Given the description of an element on the screen output the (x, y) to click on. 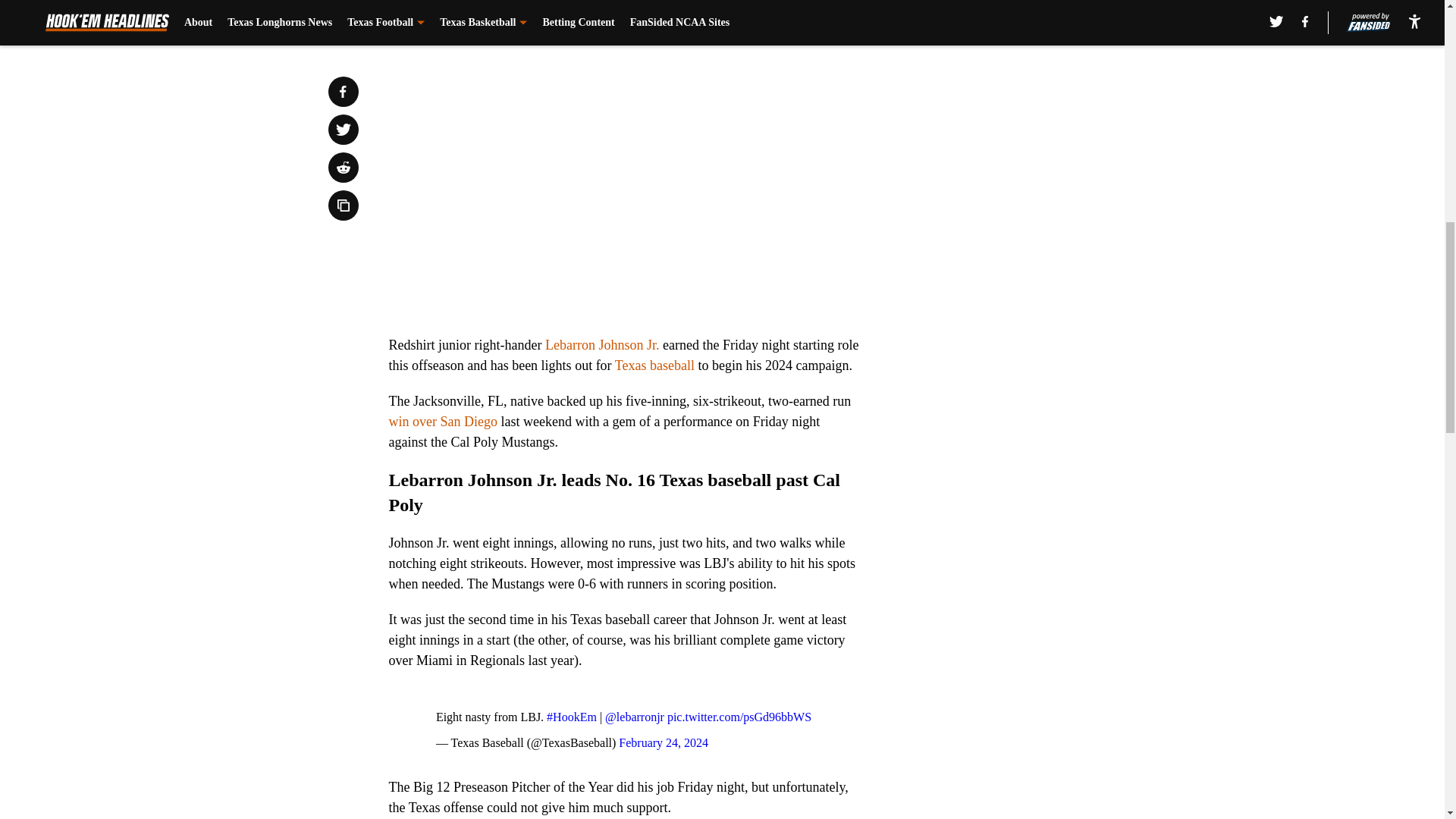
Lebarron Johnson Jr. (601, 344)
Texas baseball (654, 365)
win over San Diego (442, 421)
February 24, 2024 (662, 742)
